Given the description of an element on the screen output the (x, y) to click on. 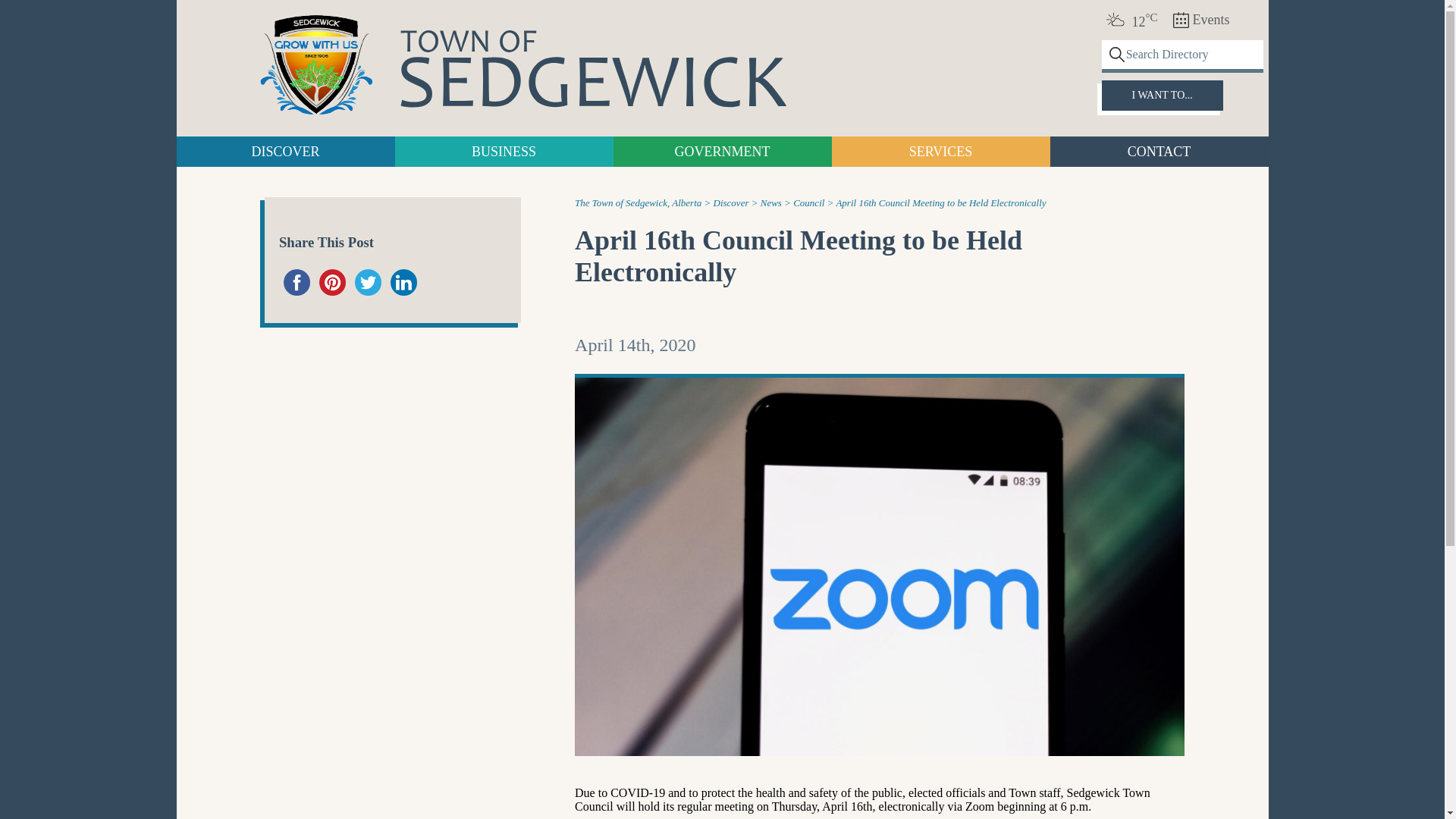
Go to News. (770, 202)
Go to the Council Category archives. (808, 202)
Go to The Town of Sedgewick, Alberta. (638, 202)
I WANT TO... (1161, 95)
DISCOVER (285, 151)
twitter (367, 282)
Events (1201, 19)
pinterest (332, 282)
Sedgewick (315, 66)
Go to Discover. (731, 202)
linkedin (403, 282)
facebook (296, 282)
